Given the description of an element on the screen output the (x, y) to click on. 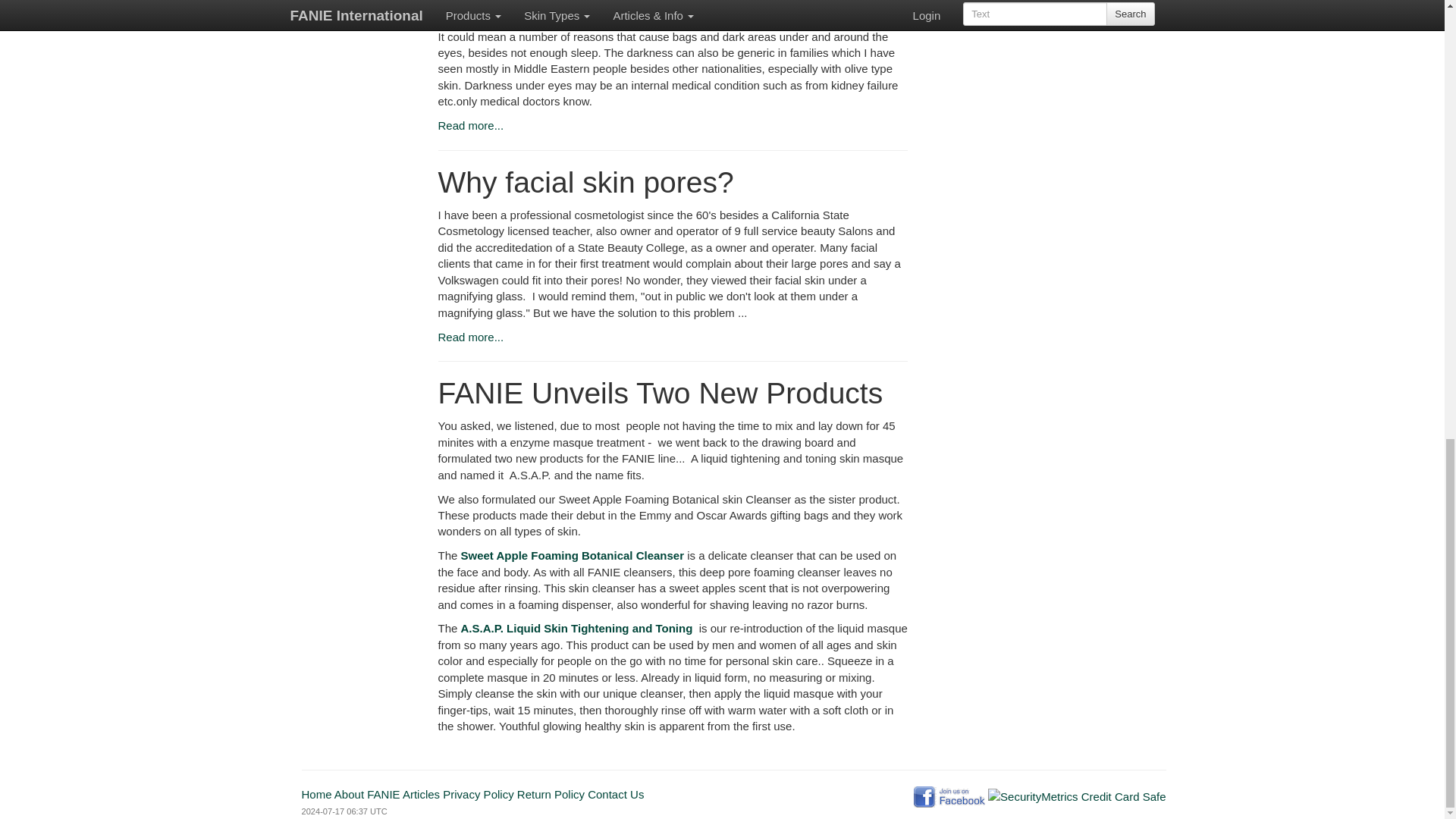
Got facebook? (949, 796)
